Given the description of an element on the screen output the (x, y) to click on. 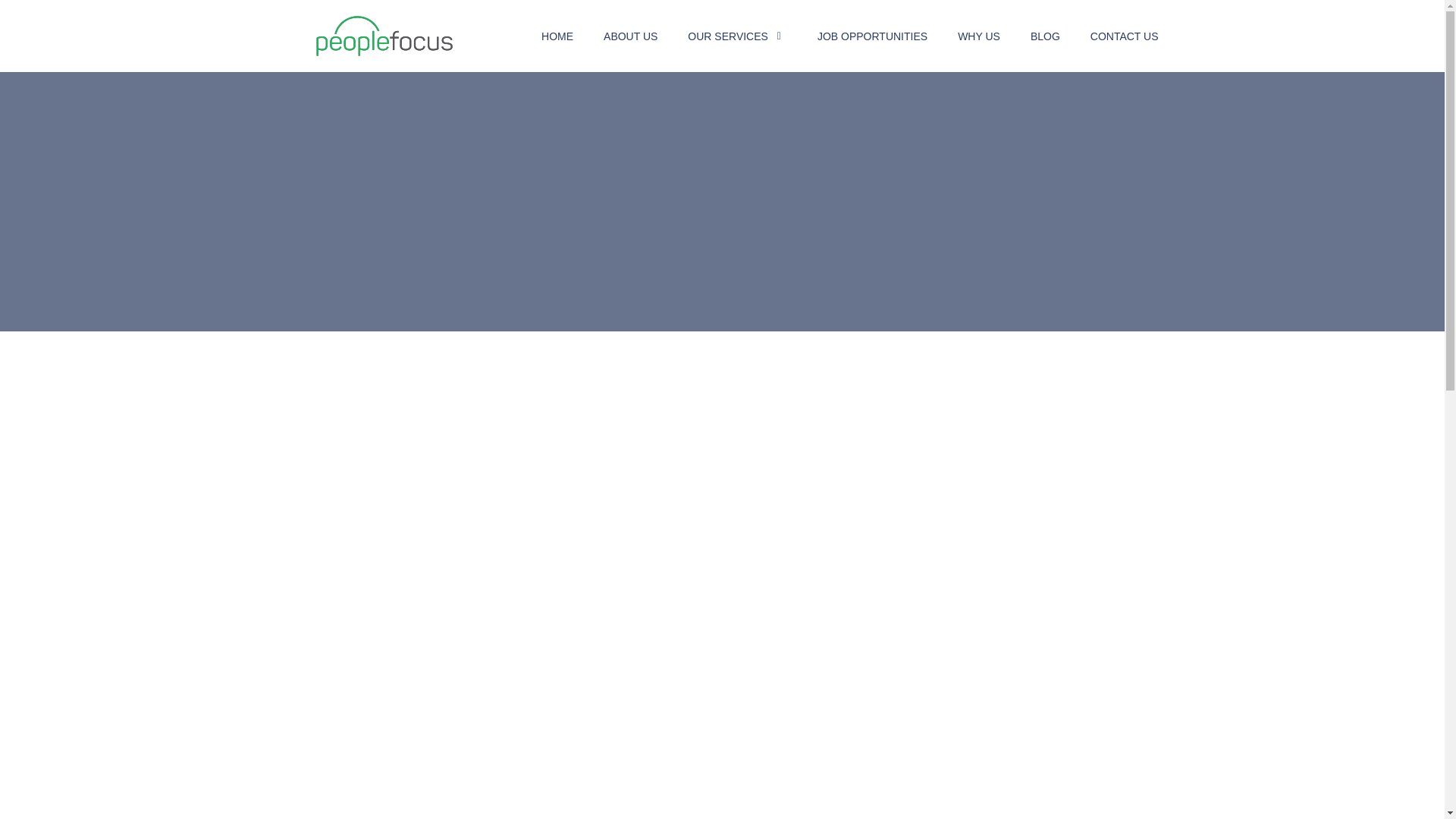
BLOG (1044, 35)
WHY US (979, 35)
JOB OPPORTUNITIES (871, 35)
ABOUT US (631, 35)
Peoplefocus HR (373, 68)
HOME (557, 35)
OUR SERVICES (729, 35)
CONTACT US (1124, 35)
